Given the description of an element on the screen output the (x, y) to click on. 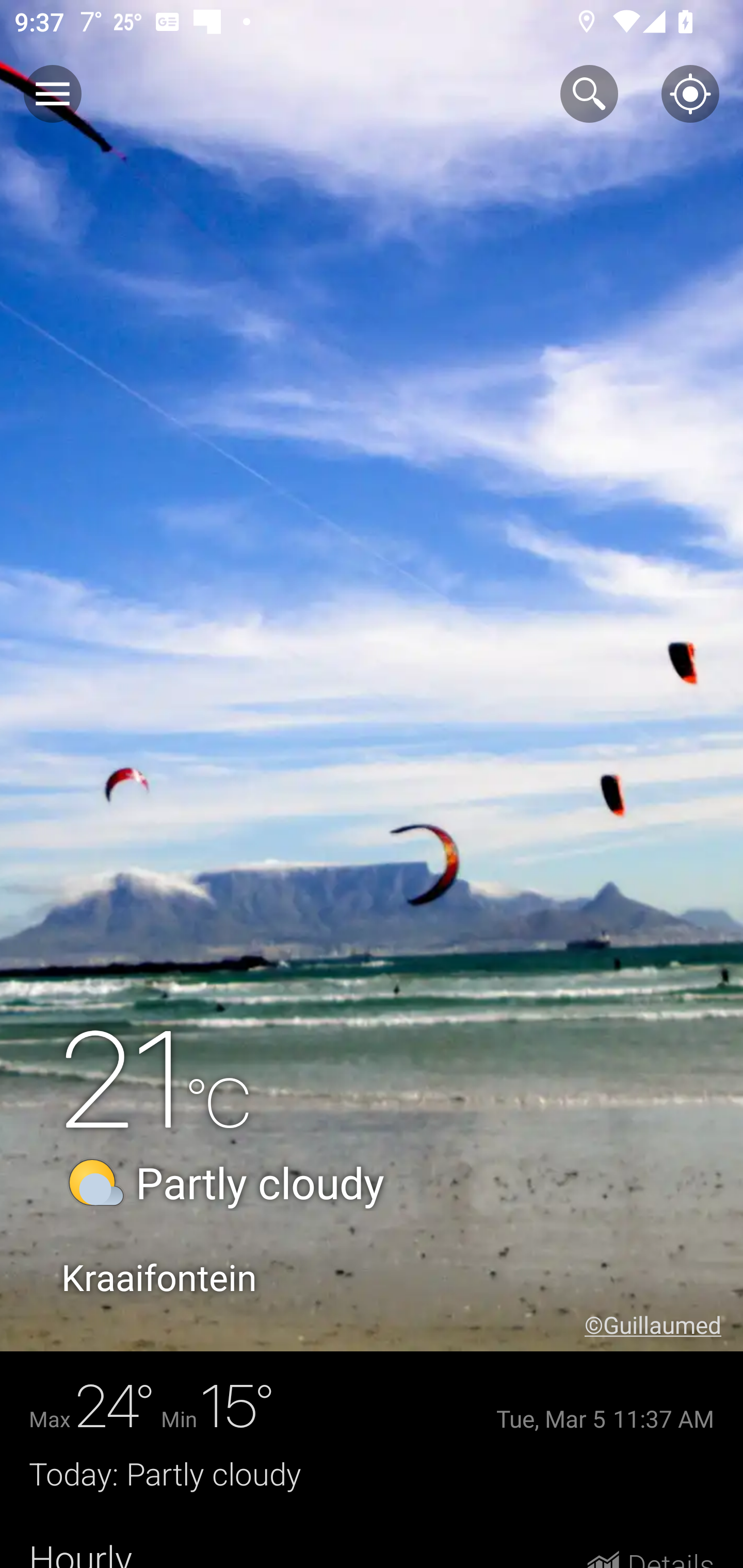
©Guillaumed (663, 1324)
